Given the description of an element on the screen output the (x, y) to click on. 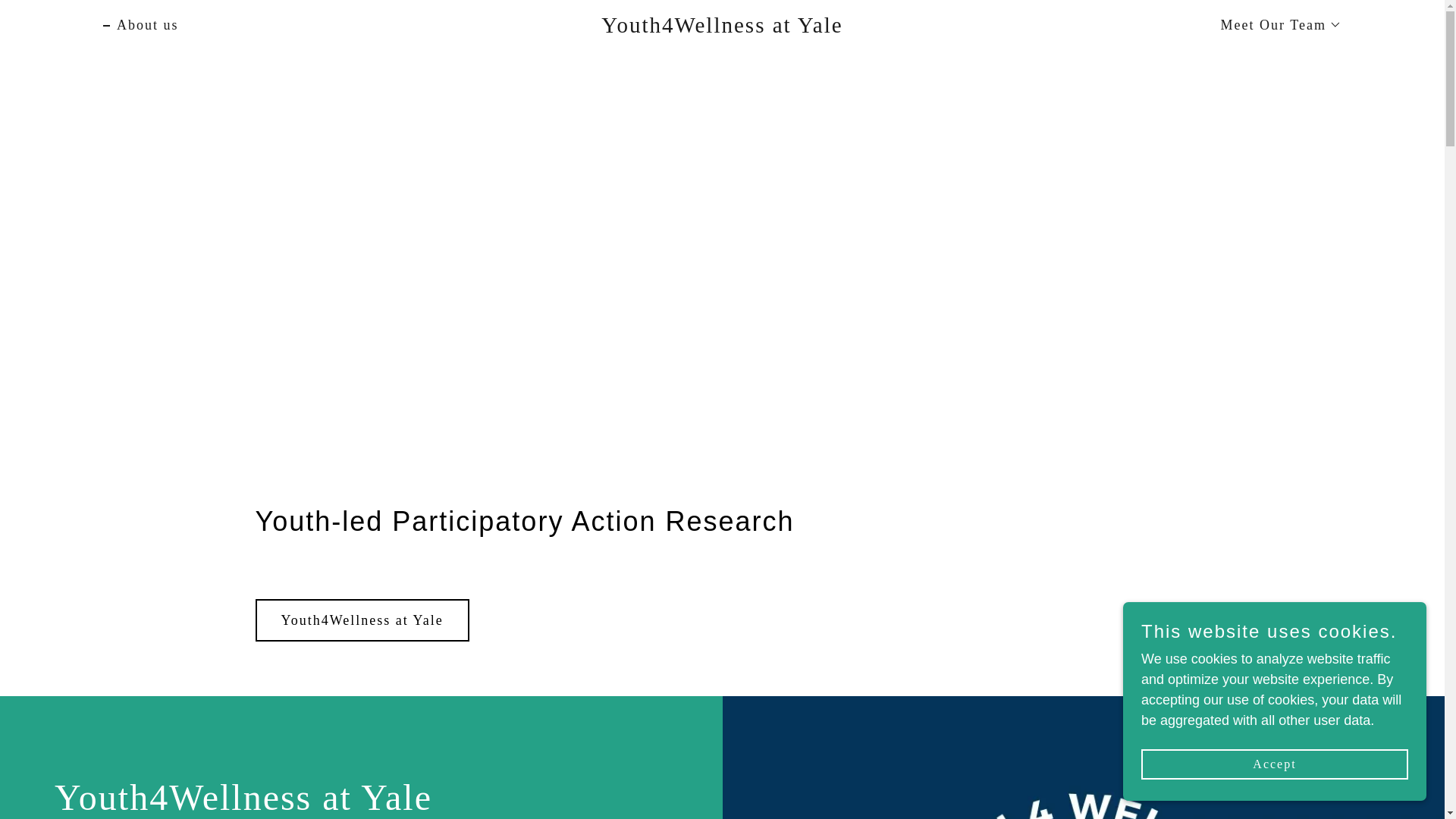
Youth4Wellness at Yale (361, 619)
Youth4Wellness at Yale (721, 28)
Meet Our Team (1273, 24)
Youth4Wellness at Yale (721, 28)
About us (141, 24)
